Given the description of an element on the screen output the (x, y) to click on. 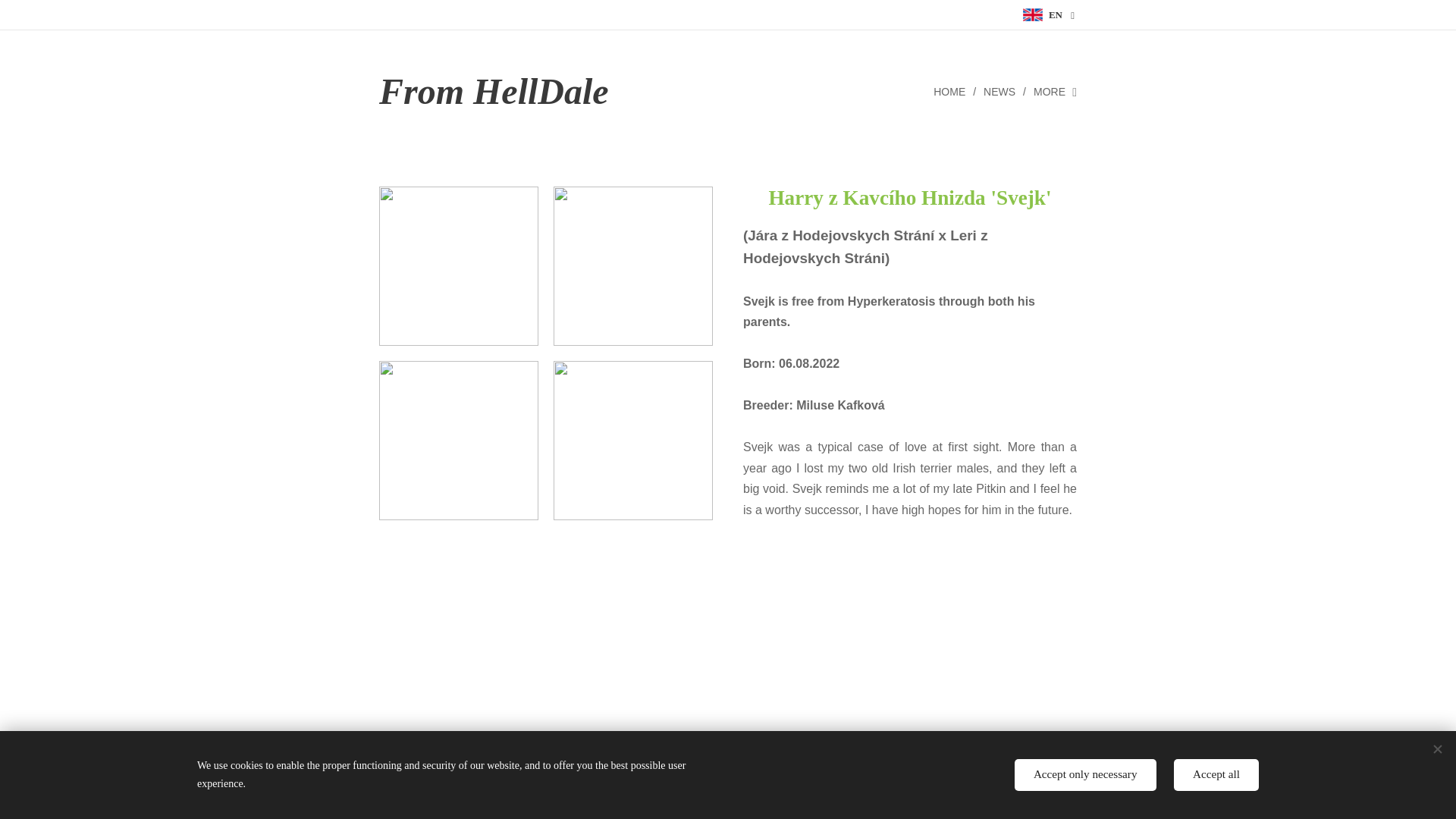
Accept all (1216, 774)
MORE (1051, 91)
From HellDale Ranch Kennel  (533, 91)
Accept only necessary (1085, 774)
HOME (952, 91)
NEWS (1000, 91)
